Given the description of an element on the screen output the (x, y) to click on. 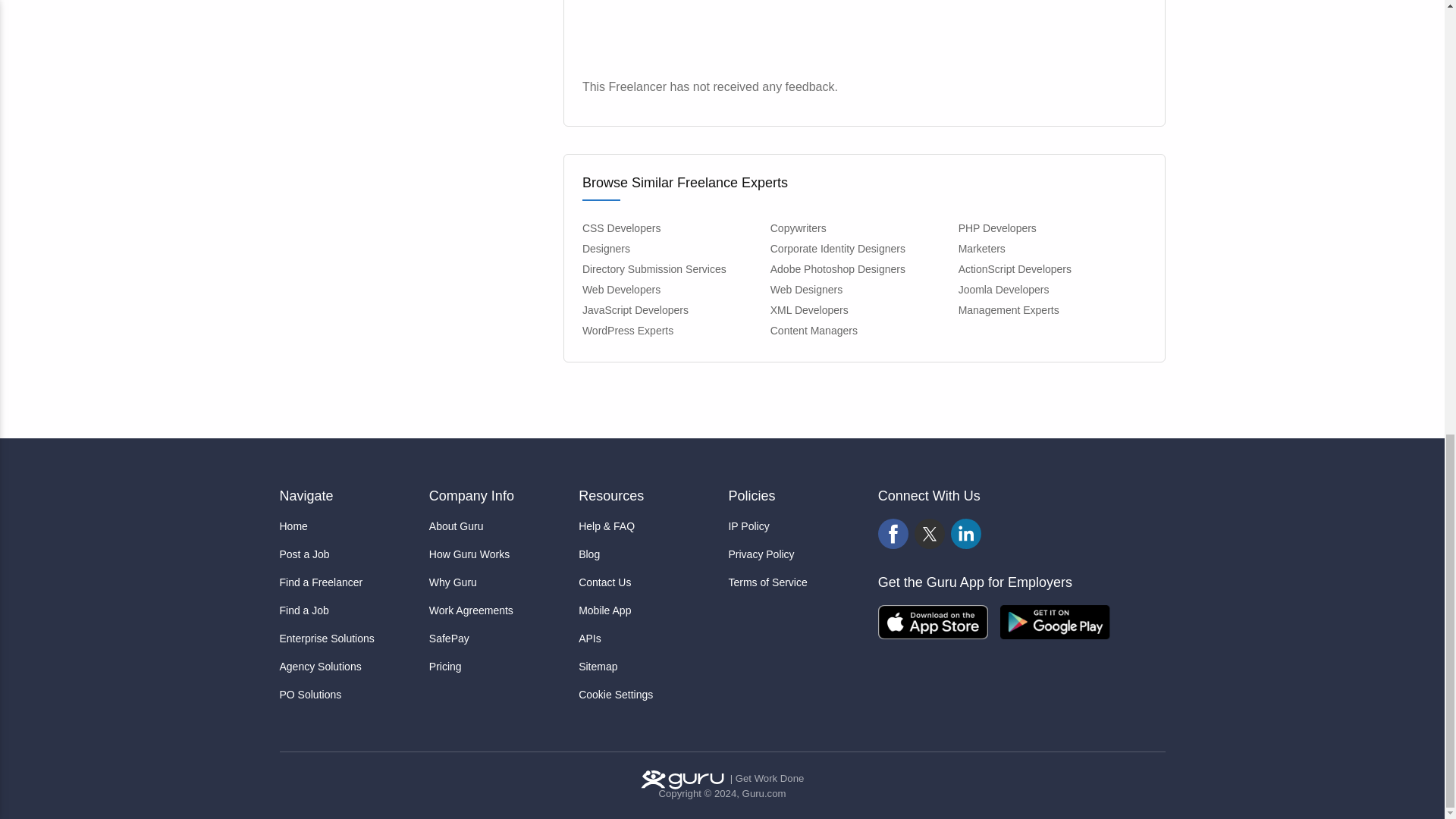
Find a Freelancer (347, 582)
Connect with Guru on Facebook (893, 533)
Post a Job (347, 554)
Home (347, 526)
Connect with Guru on LinkedIn (965, 533)
Connect with Guru on X (929, 533)
